Given the description of an element on the screen output the (x, y) to click on. 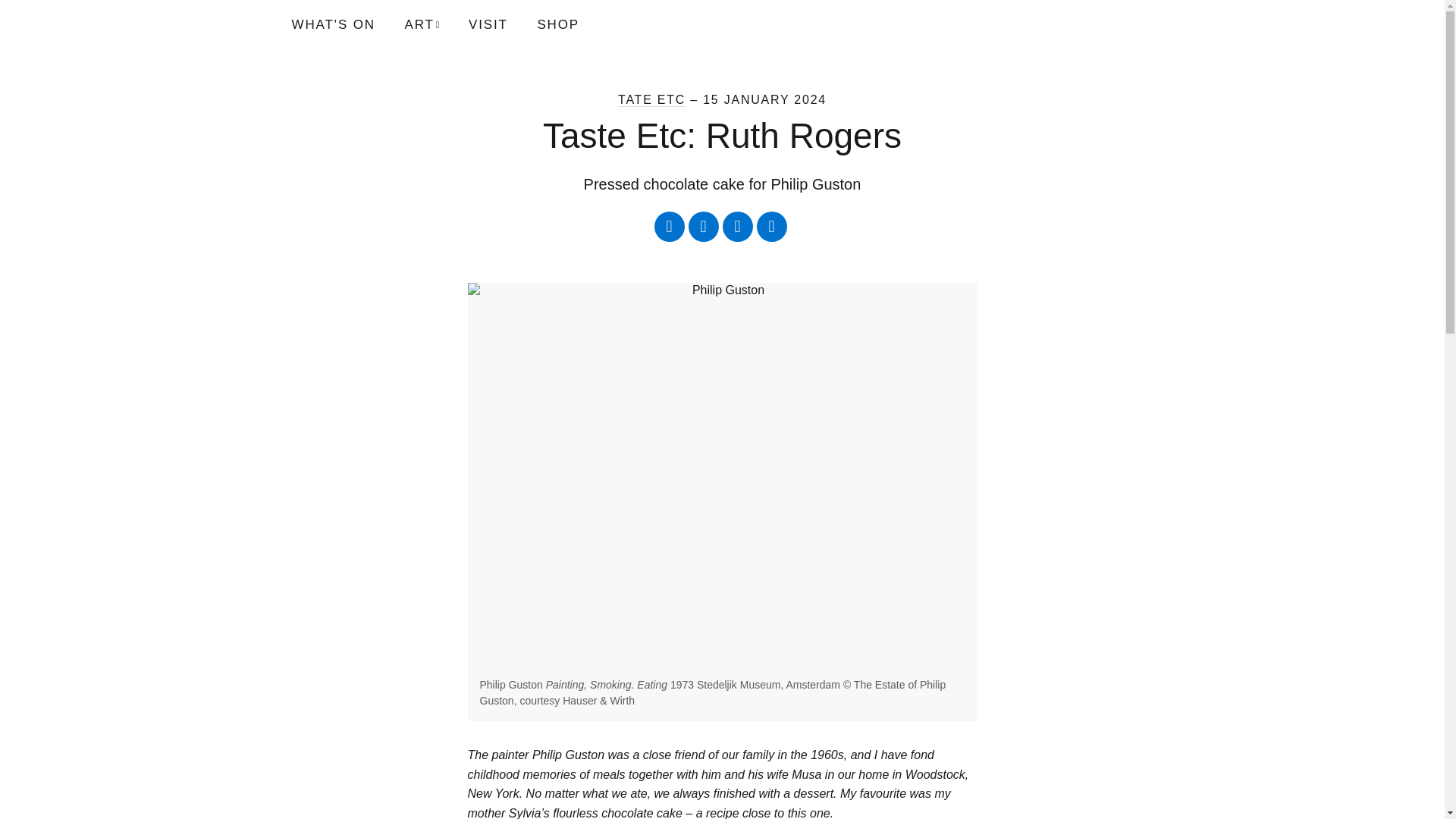
Twitter (668, 226)
TATE ETC (651, 100)
Return to the Tate home page (323, 23)
SHOP (557, 24)
Twitter (668, 226)
VISIT (488, 24)
Facebook (703, 226)
Pinterest (772, 226)
BECOME A MEMBER (882, 23)
WHAT'S ON (339, 24)
